Given the description of an element on the screen output the (x, y) to click on. 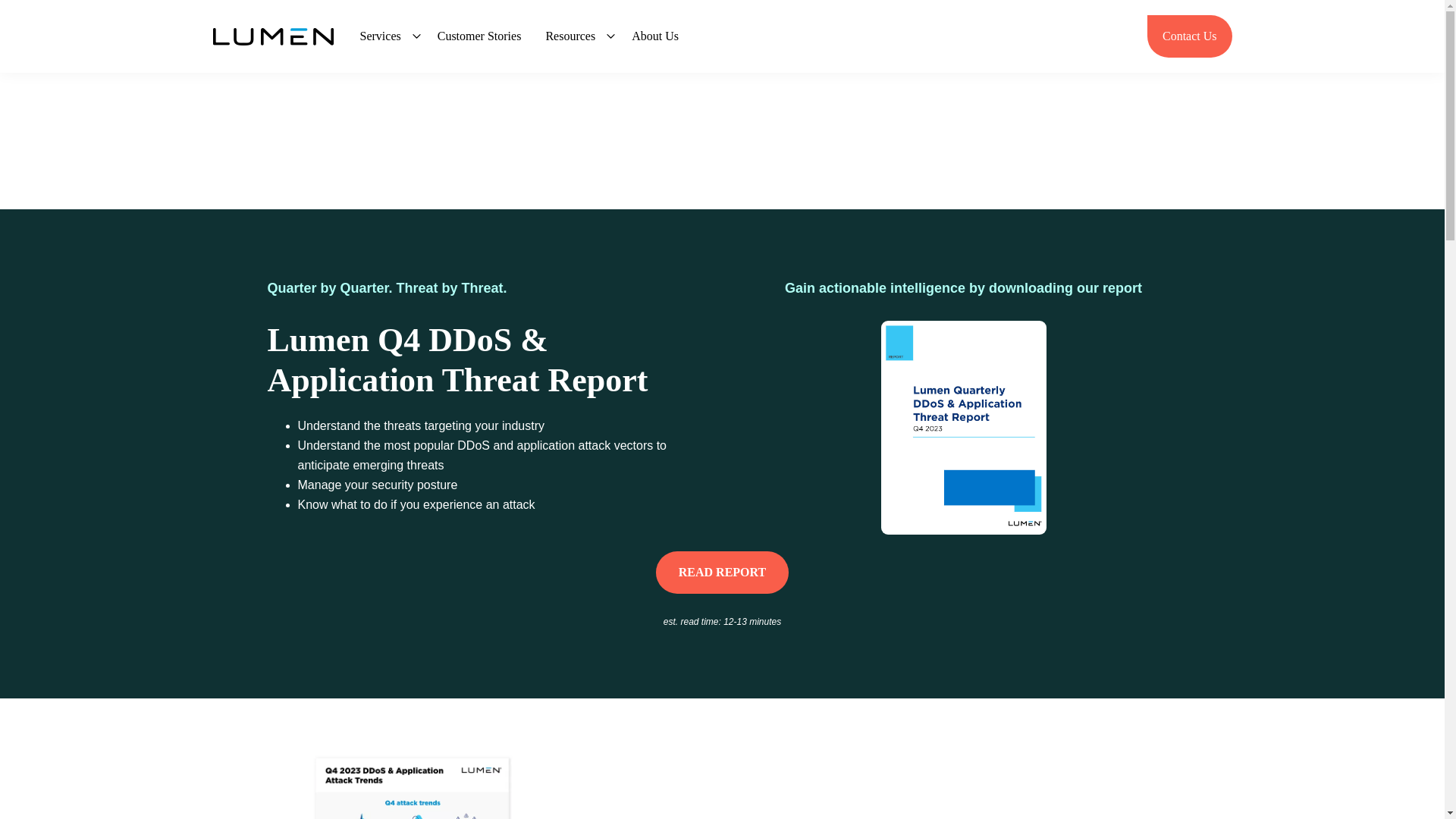
menu-tt (386, 35)
Services (386, 35)
Contact Us (1189, 36)
About Us (655, 35)
Resources (576, 35)
Customer Stories (479, 35)
